Given the description of an element on the screen output the (x, y) to click on. 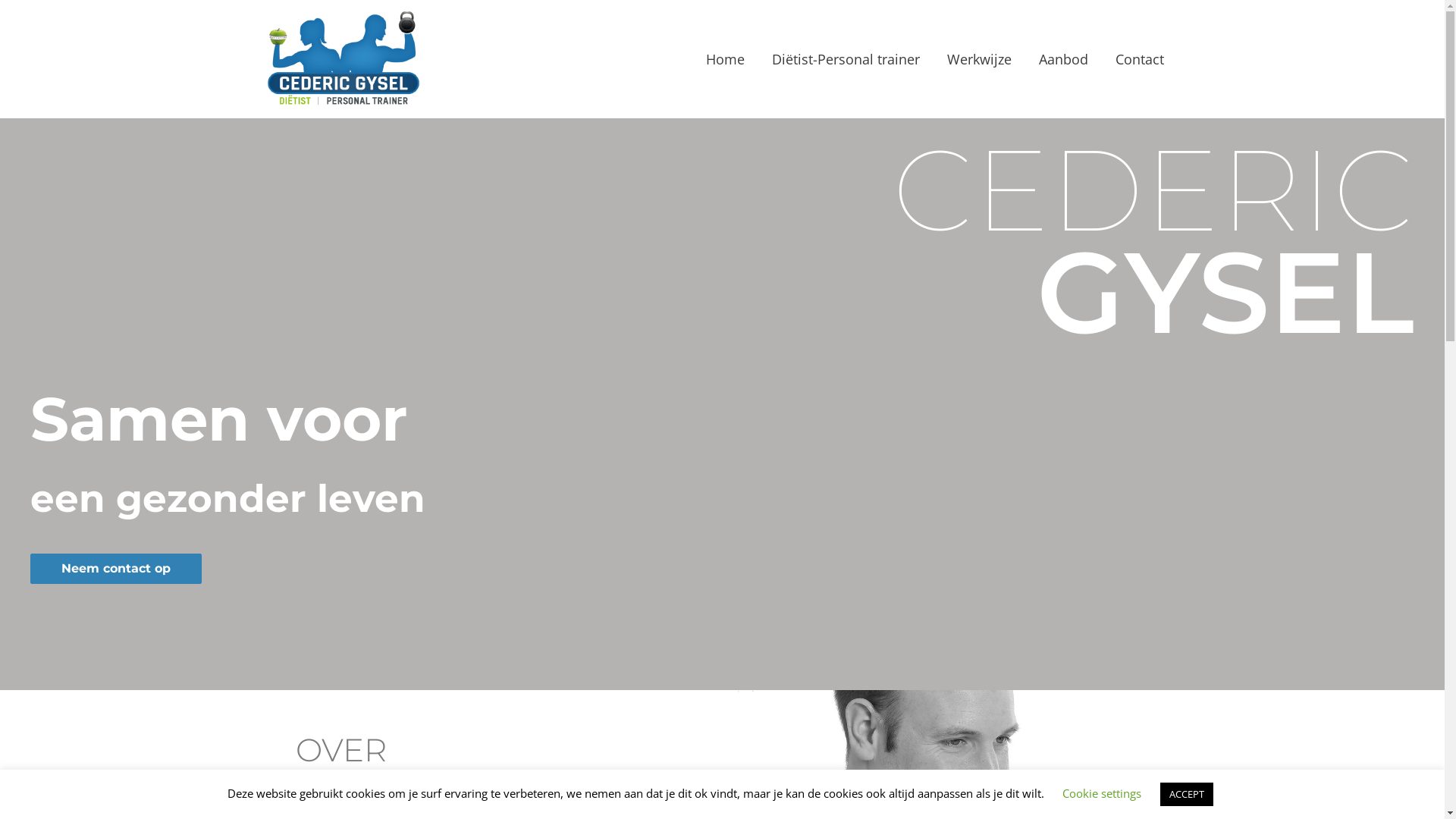
Contact Element type: text (1138, 58)
Cookie settings Element type: text (1101, 792)
Aanbod Element type: text (1063, 58)
Werkwijze Element type: text (978, 58)
Neem contact op Element type: text (115, 568)
Home Element type: text (724, 58)
ACCEPT Element type: text (1186, 794)
